Given the description of an element on the screen output the (x, y) to click on. 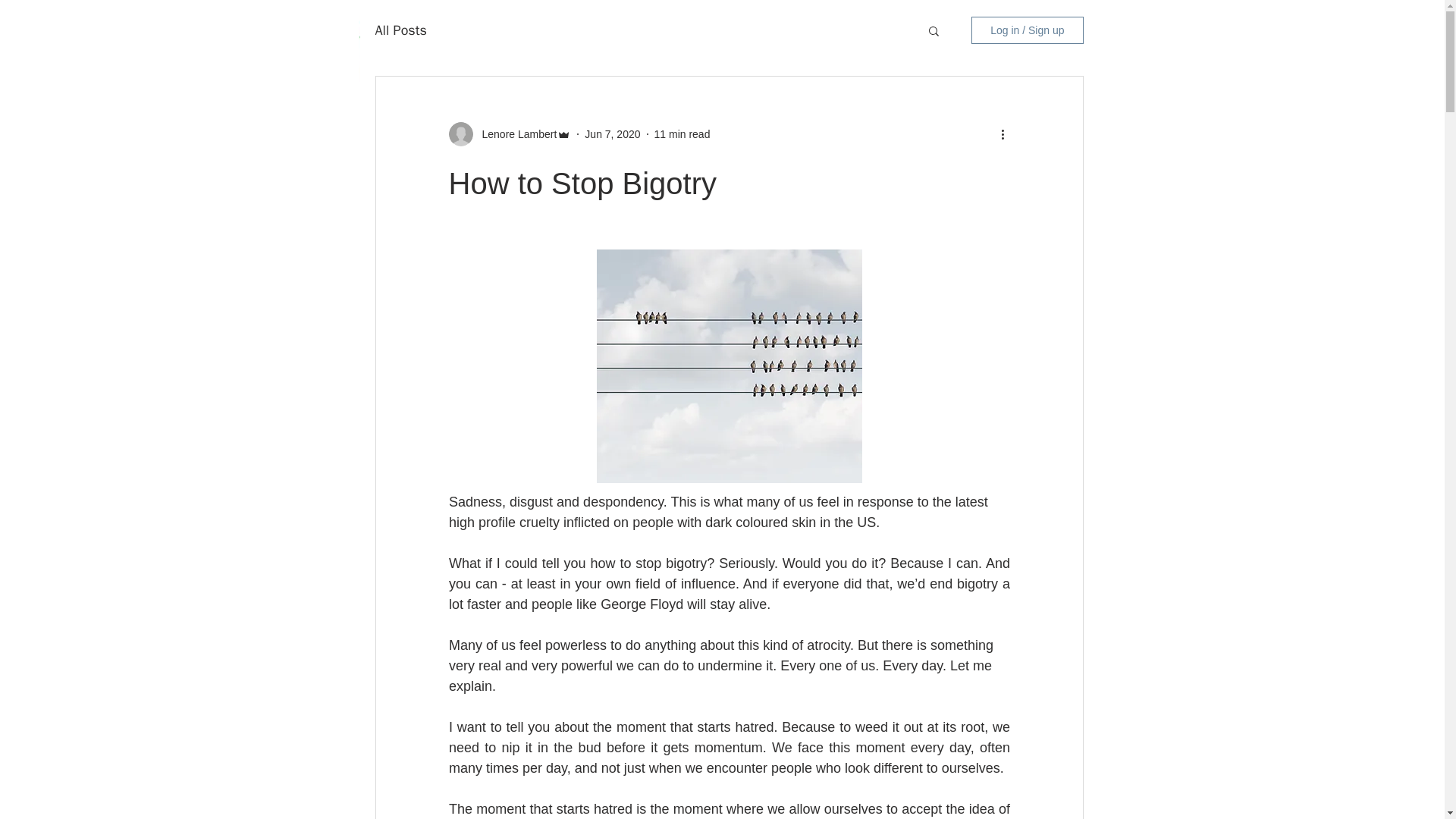
Home (622, 56)
Jun 7, 2020 (612, 133)
Lenore Lambert (515, 133)
Programs (779, 56)
11 min read (681, 133)
Blog (928, 56)
Tools (862, 56)
Contact (1001, 56)
All Posts (400, 30)
About (696, 56)
